Given the description of an element on the screen output the (x, y) to click on. 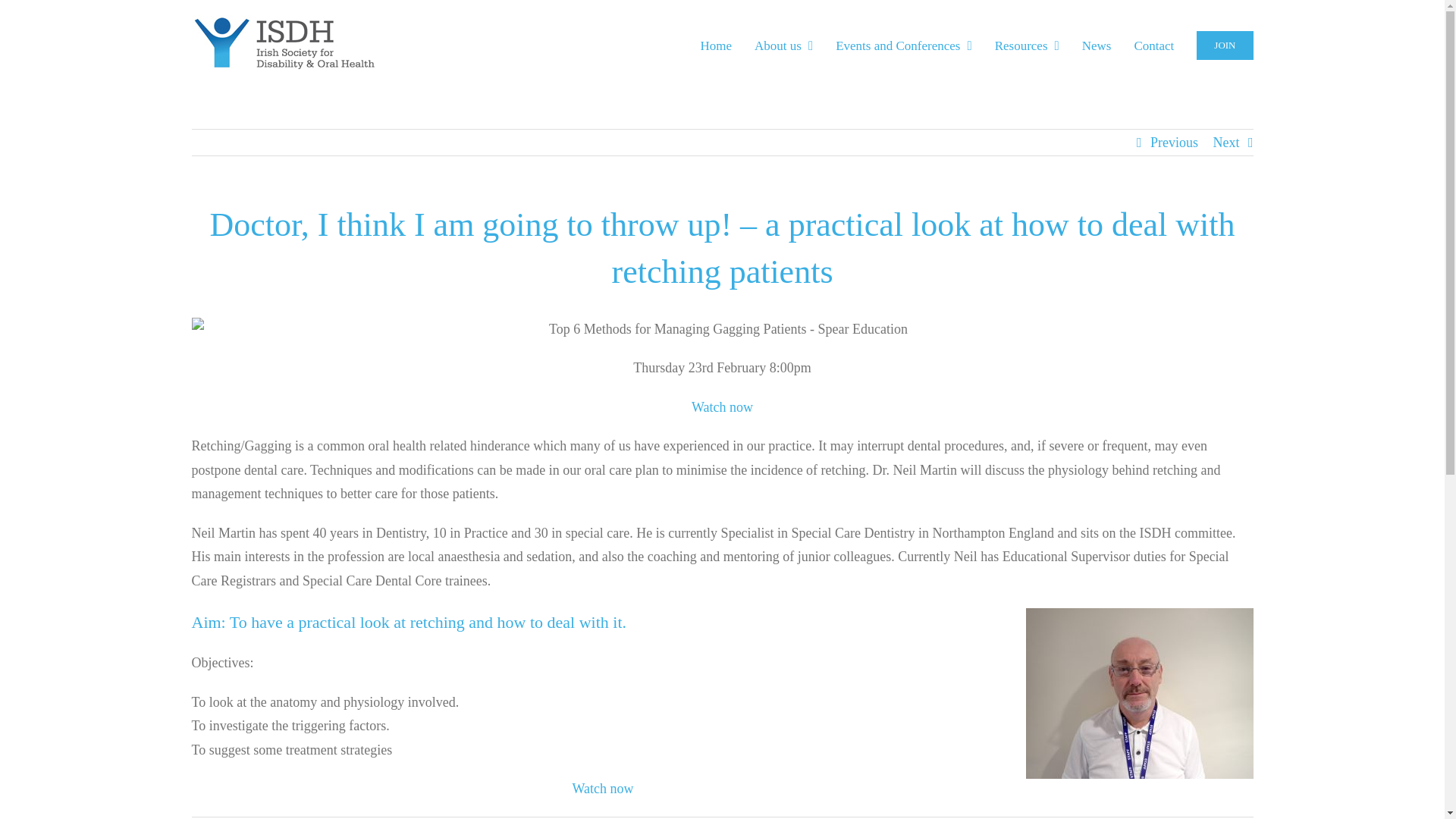
Watch now (602, 788)
Events and Conferences (903, 43)
Watch now (721, 406)
Next (1226, 142)
Previous (1174, 142)
